Given the description of an element on the screen output the (x, y) to click on. 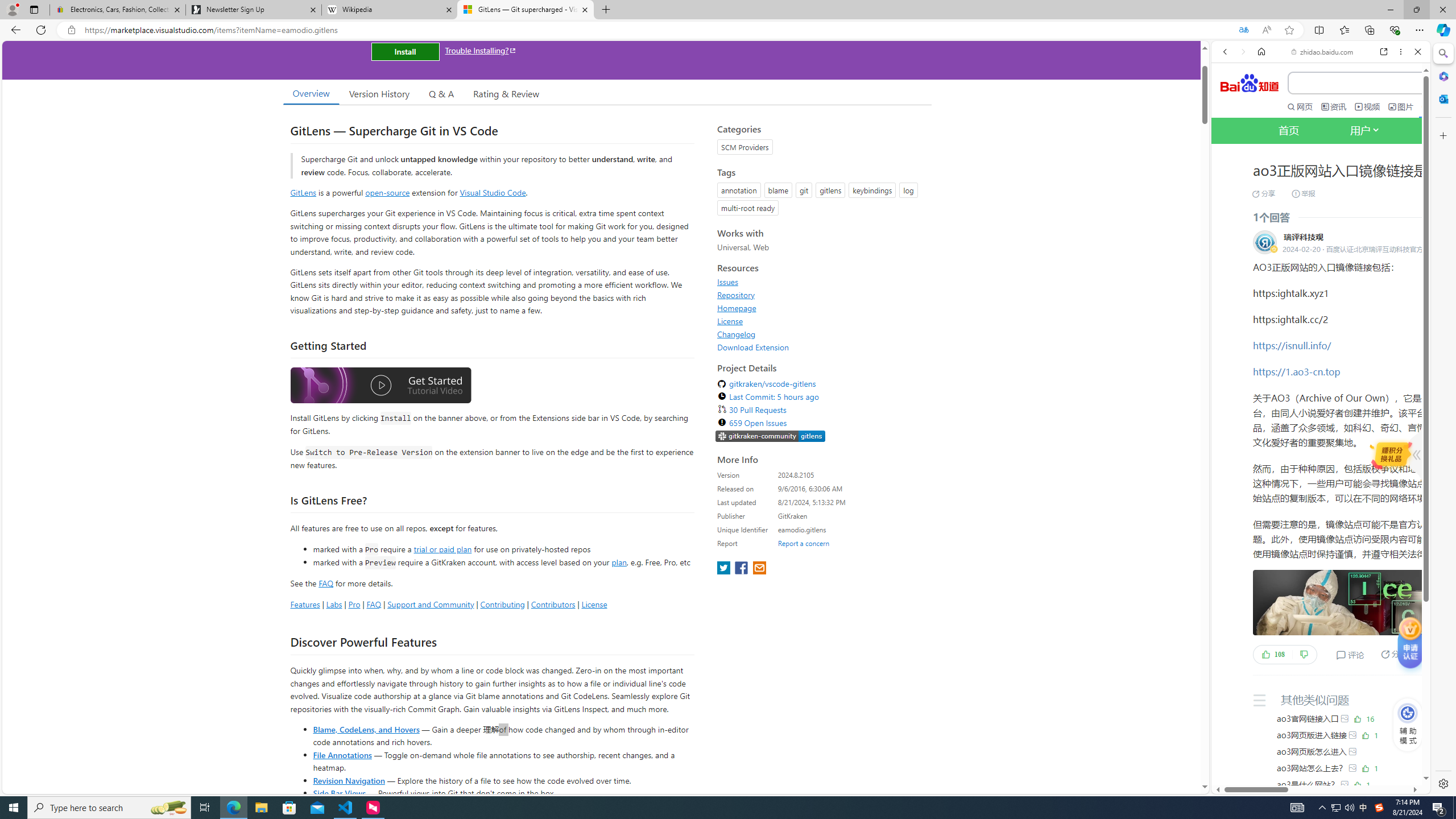
Repository (735, 294)
plan (618, 562)
Tab actions menu (33, 9)
File Annotations (342, 754)
Search the web (1326, 78)
Q & A (441, 92)
Preferences (1403, 191)
Download Extension (753, 346)
More options (1401, 51)
Class: jump-goto-star (1411, 645)
Search (1442, 53)
English (US) (1320, 329)
